Given the description of an element on the screen output the (x, y) to click on. 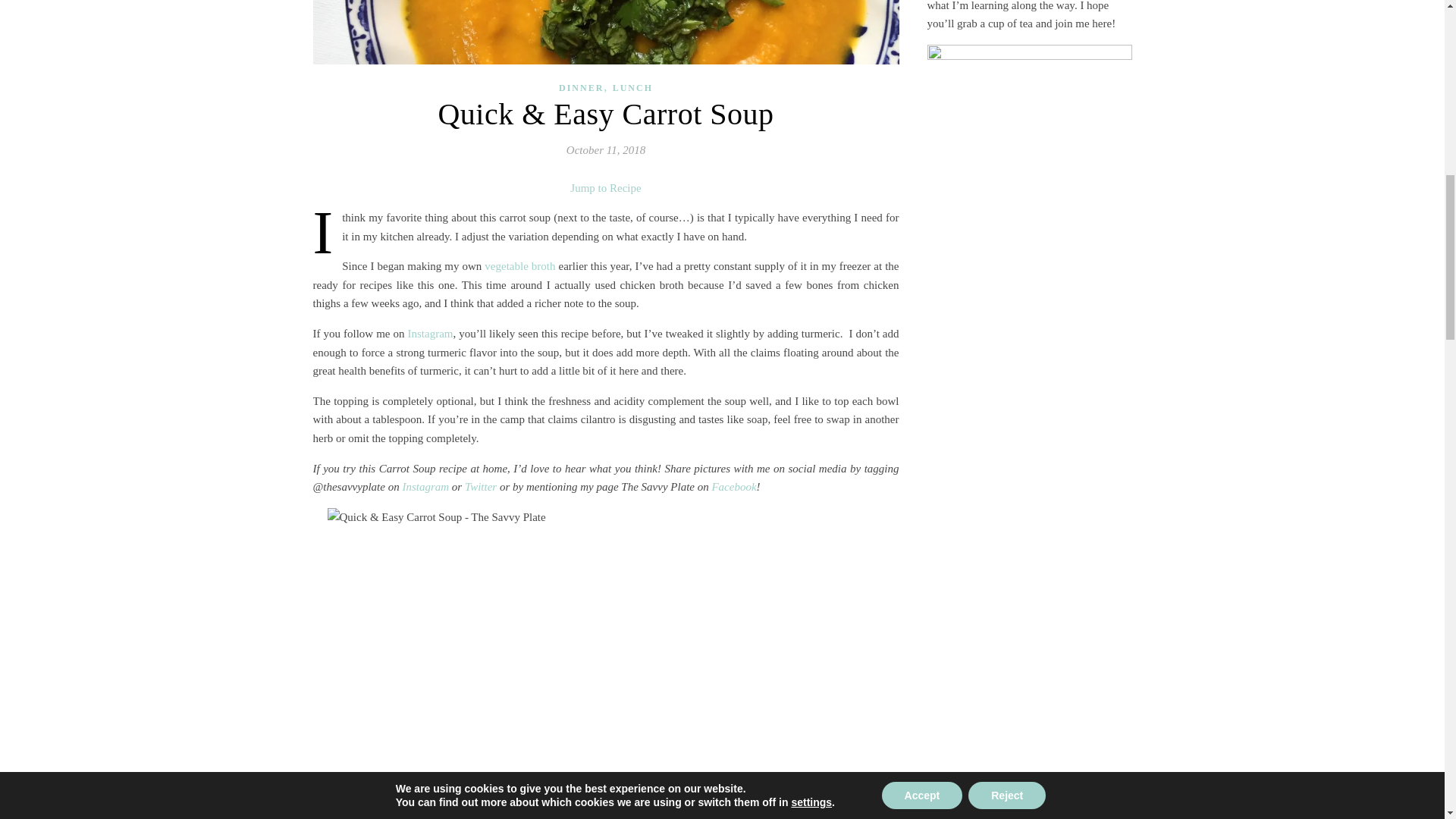
Instagram (429, 333)
Jump to Recipe (604, 188)
DINNER (581, 87)
vegetable broth (519, 265)
Facebook (733, 486)
LUNCH (632, 87)
Instagram (424, 486)
Twitter (480, 486)
